Given the description of an element on the screen output the (x, y) to click on. 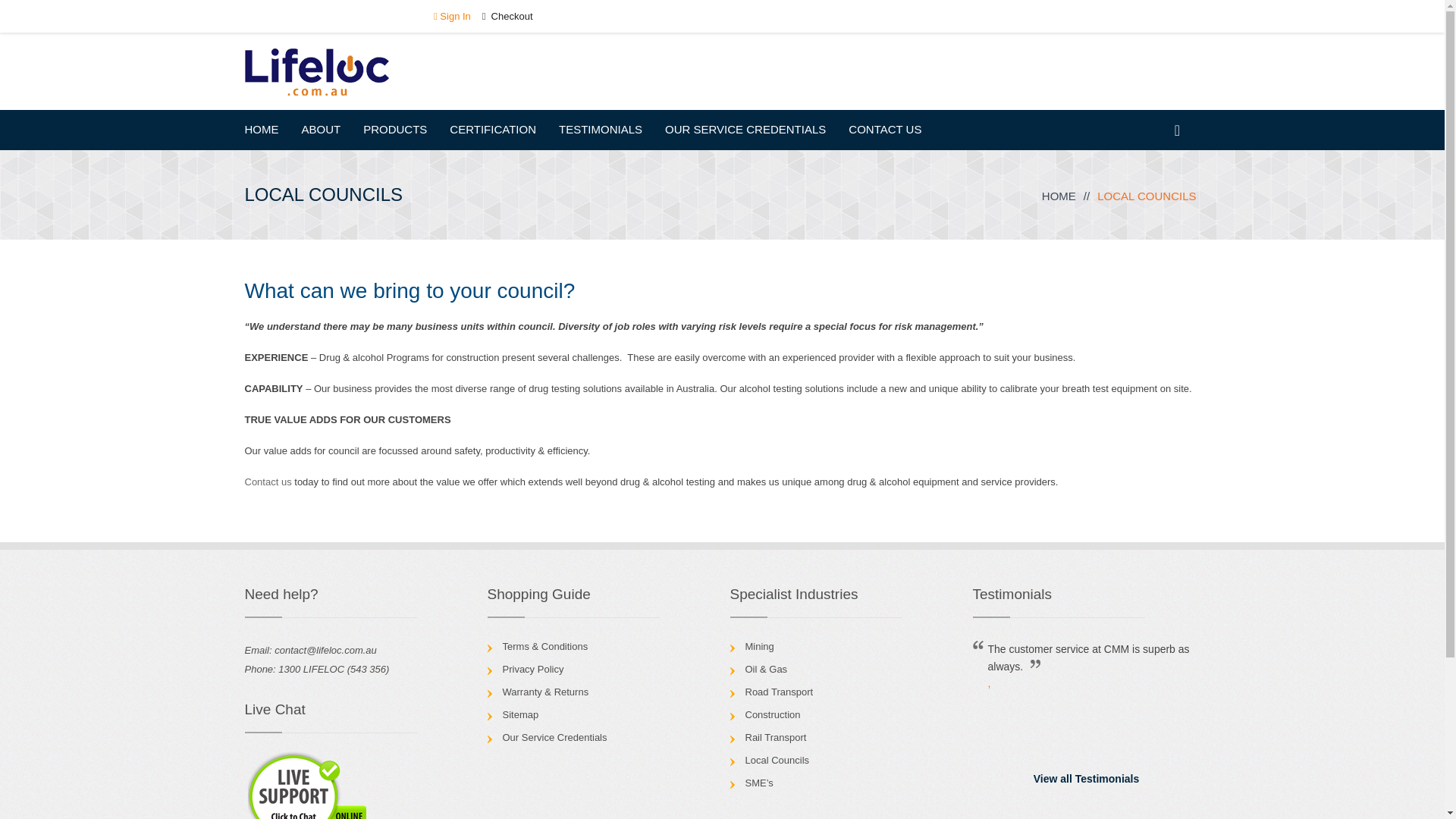
Construction (771, 714)
Sign In (451, 16)
CONTACT US (884, 128)
Privacy Policy (532, 668)
Contact us (269, 481)
PRODUCTS (394, 128)
Checkout (506, 16)
Our Service Credentials (554, 737)
HOME (1058, 195)
OUR SERVICE CREDENTIALS (745, 128)
Sitemap (520, 714)
Rail Transport (775, 737)
ABOUT (320, 128)
Road Transport (778, 691)
Mining (758, 645)
